Given the description of an element on the screen output the (x, y) to click on. 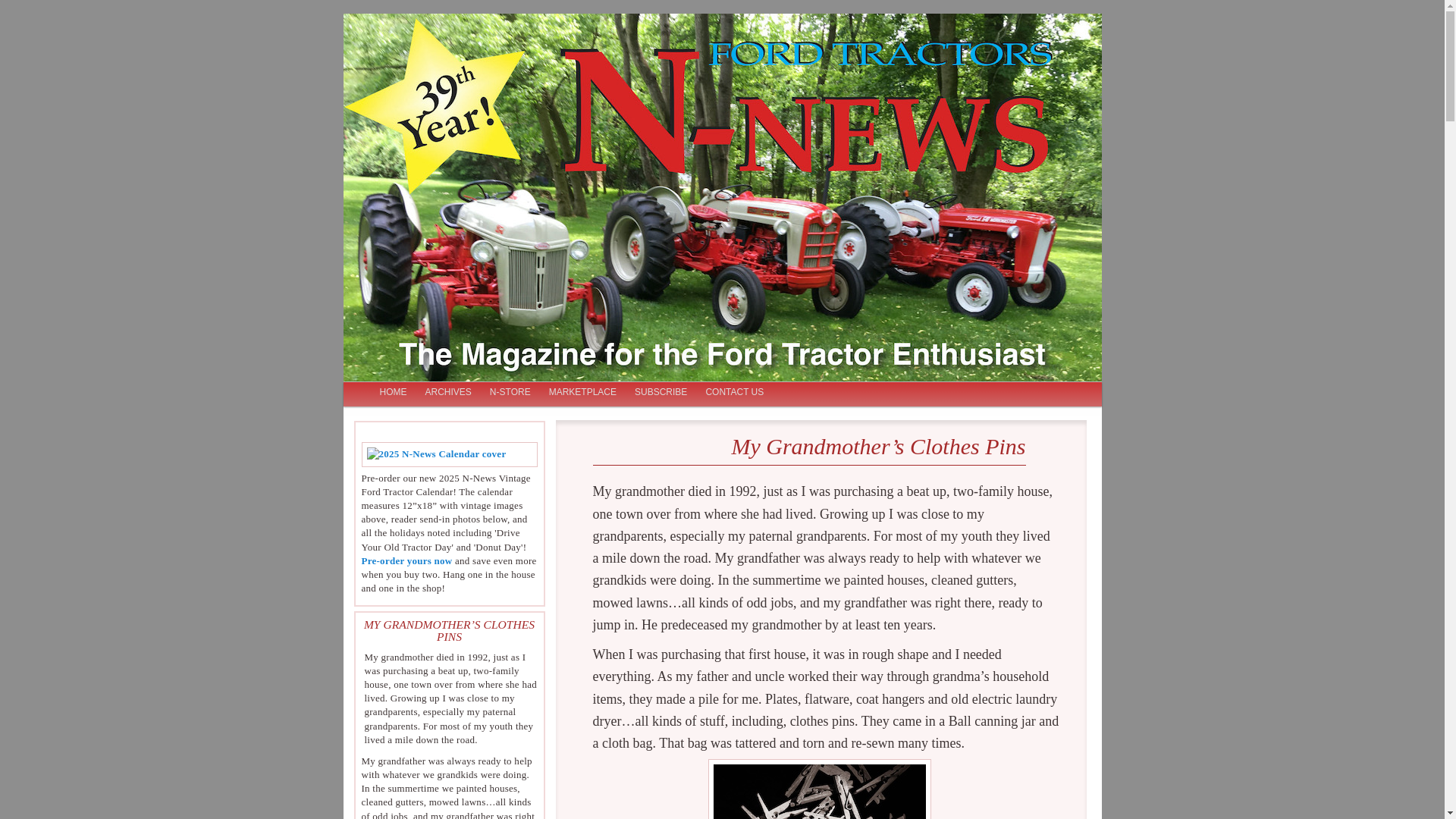
ARCHIVES (447, 392)
N-News (407, 78)
SUBSCRIBE (660, 392)
SKIP TO PRIMARY CONTENT (441, 392)
HOME (391, 392)
N-STORE (510, 392)
SKIP TO SECONDARY CONTENT (449, 392)
MARKETPLACE (583, 392)
CONTACT US (734, 392)
